Given the description of an element on the screen output the (x, y) to click on. 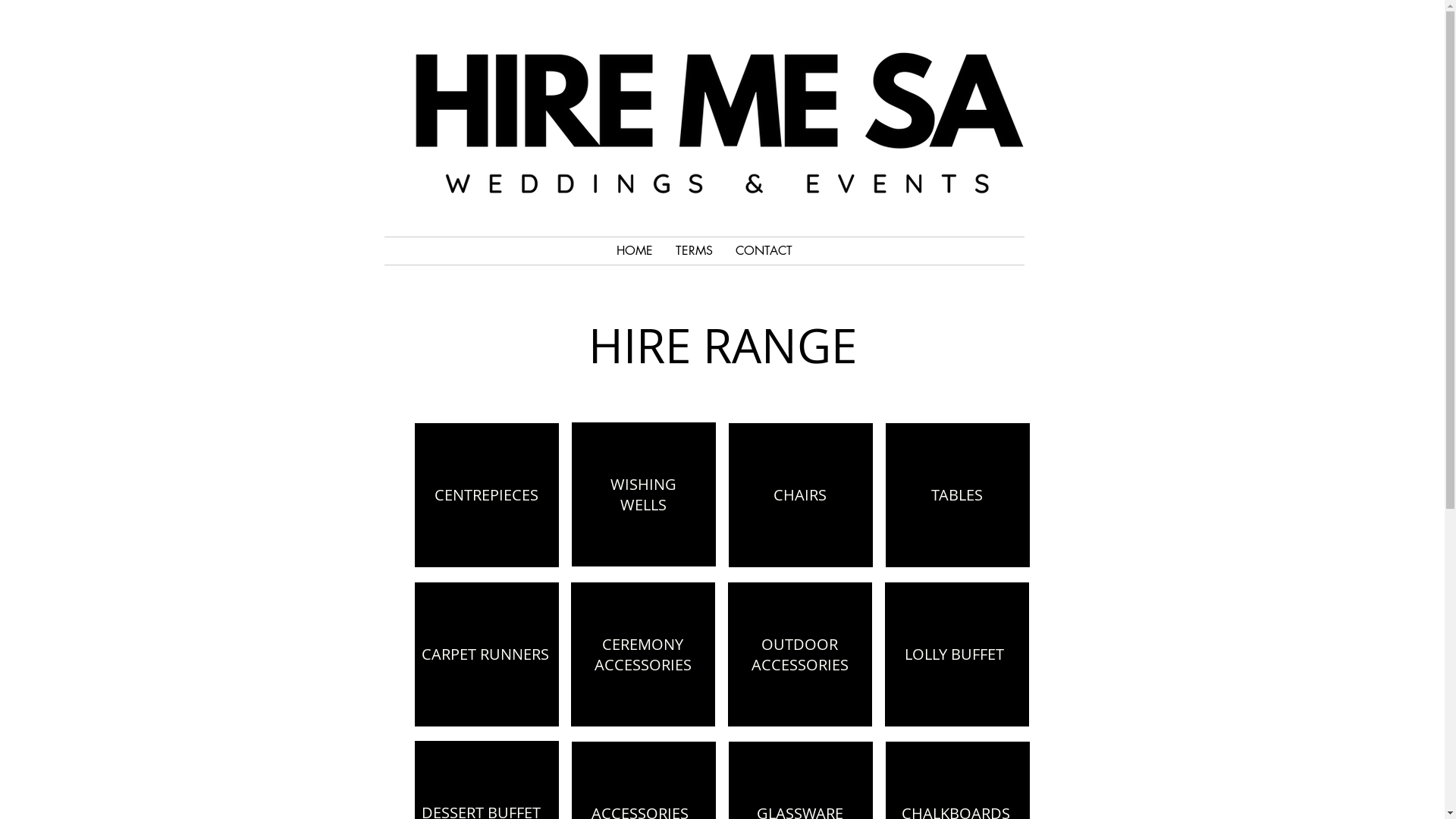
TERMS Element type: text (694, 250)
TABLES Element type: text (956, 494)
WISHING WELLS Element type: text (643, 494)
CONTACT Element type: text (763, 250)
CENTREPIECES Element type: text (485, 494)
OUTDOOR ACCESSORIES Element type: text (798, 654)
CARPET RUNNERS Element type: text (485, 654)
CHAIRS Element type: text (799, 494)
CEREMONY ACCESSORIES Element type: text (642, 654)
HOME Element type: text (634, 250)
LOLLY BUFFET Element type: text (953, 654)
